Given the description of an element on the screen output the (x, y) to click on. 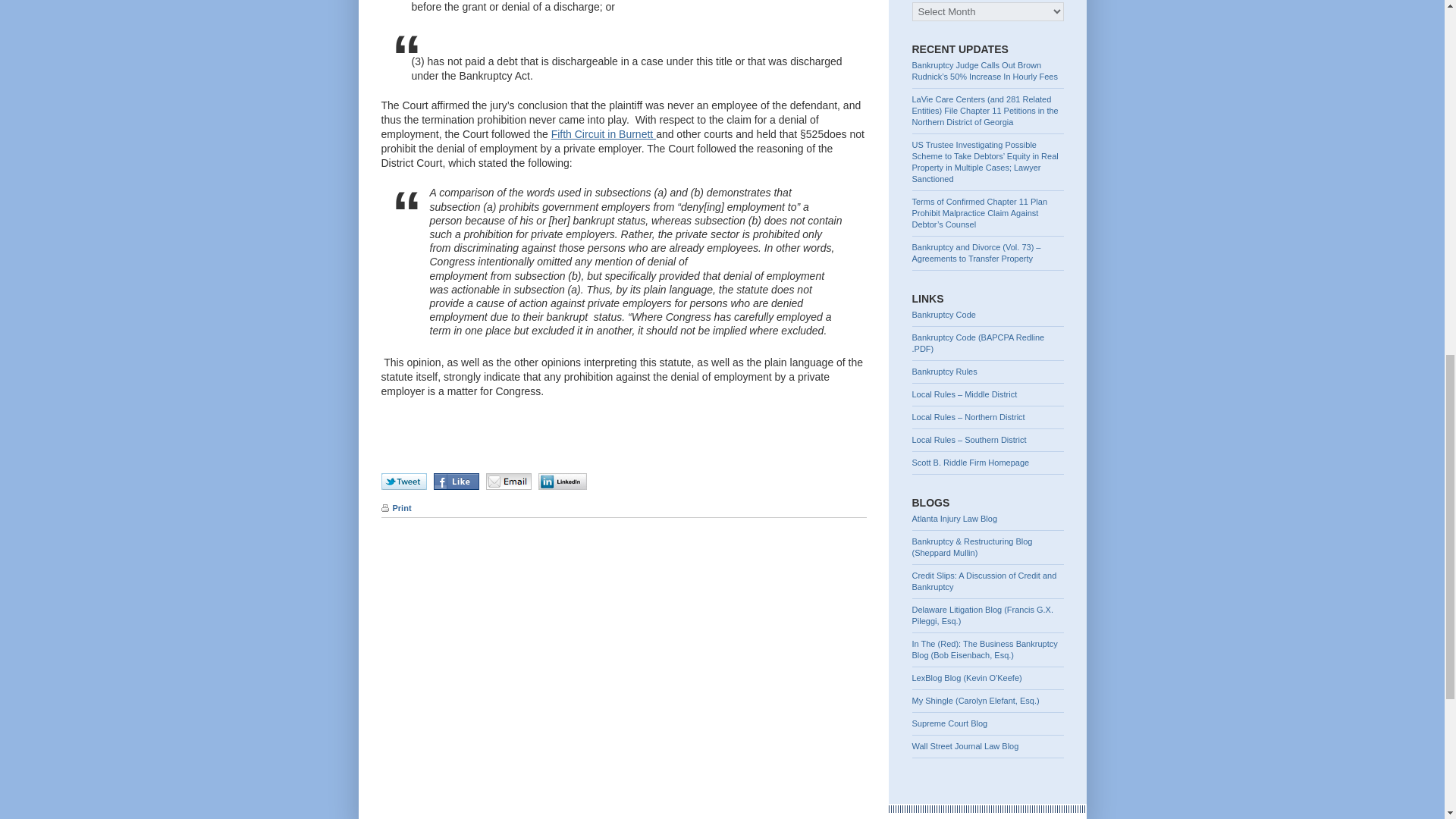
Email this post (509, 481)
Print (395, 507)
Like this post (457, 481)
Fifth Circuit in Burnett (603, 133)
Tweet this post (404, 481)
Share this post on LinkedIn (562, 481)
